Given the description of an element on the screen output the (x, y) to click on. 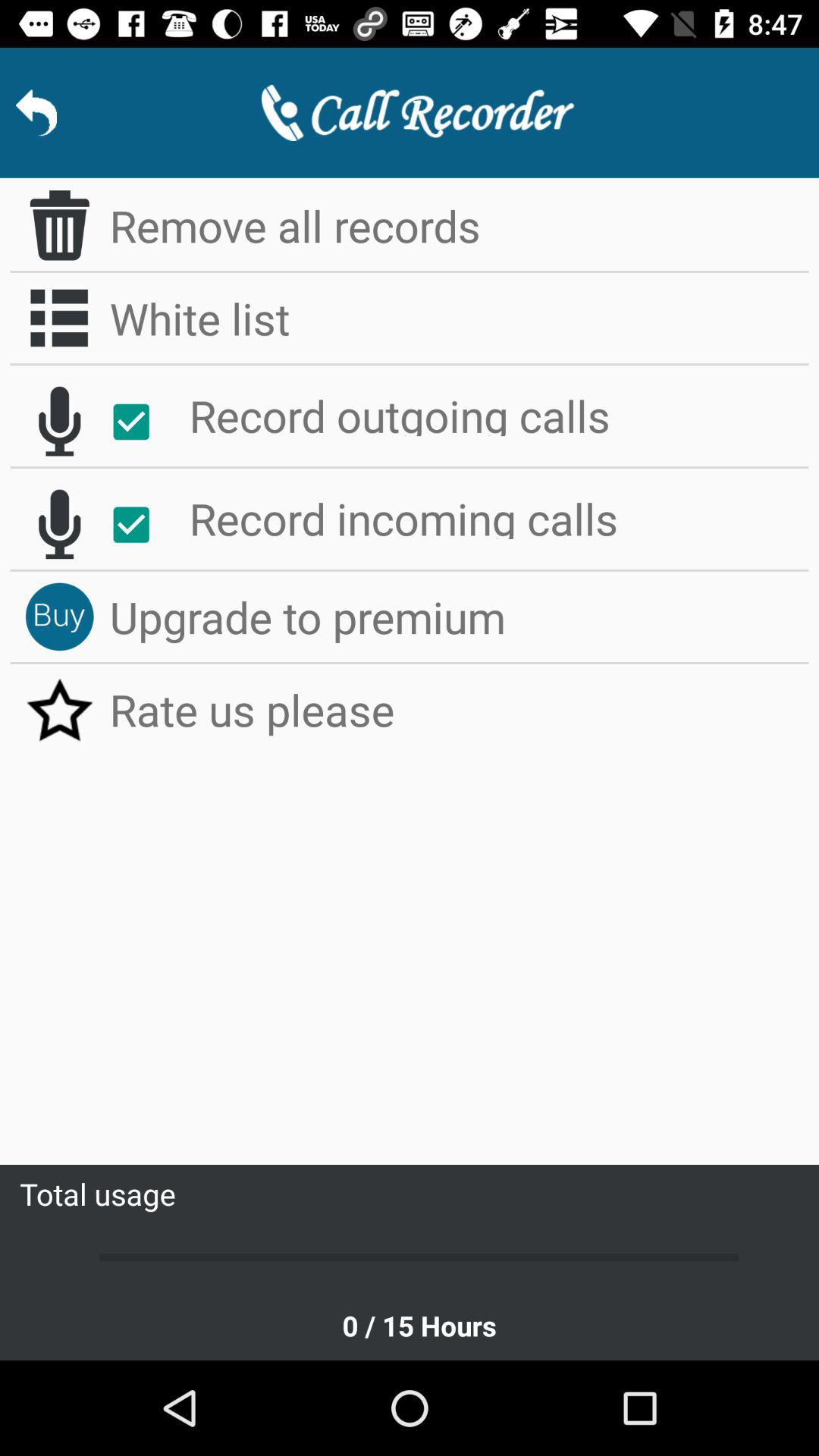
click app to the left of the record incoming calls item (139, 524)
